Given the description of an element on the screen output the (x, y) to click on. 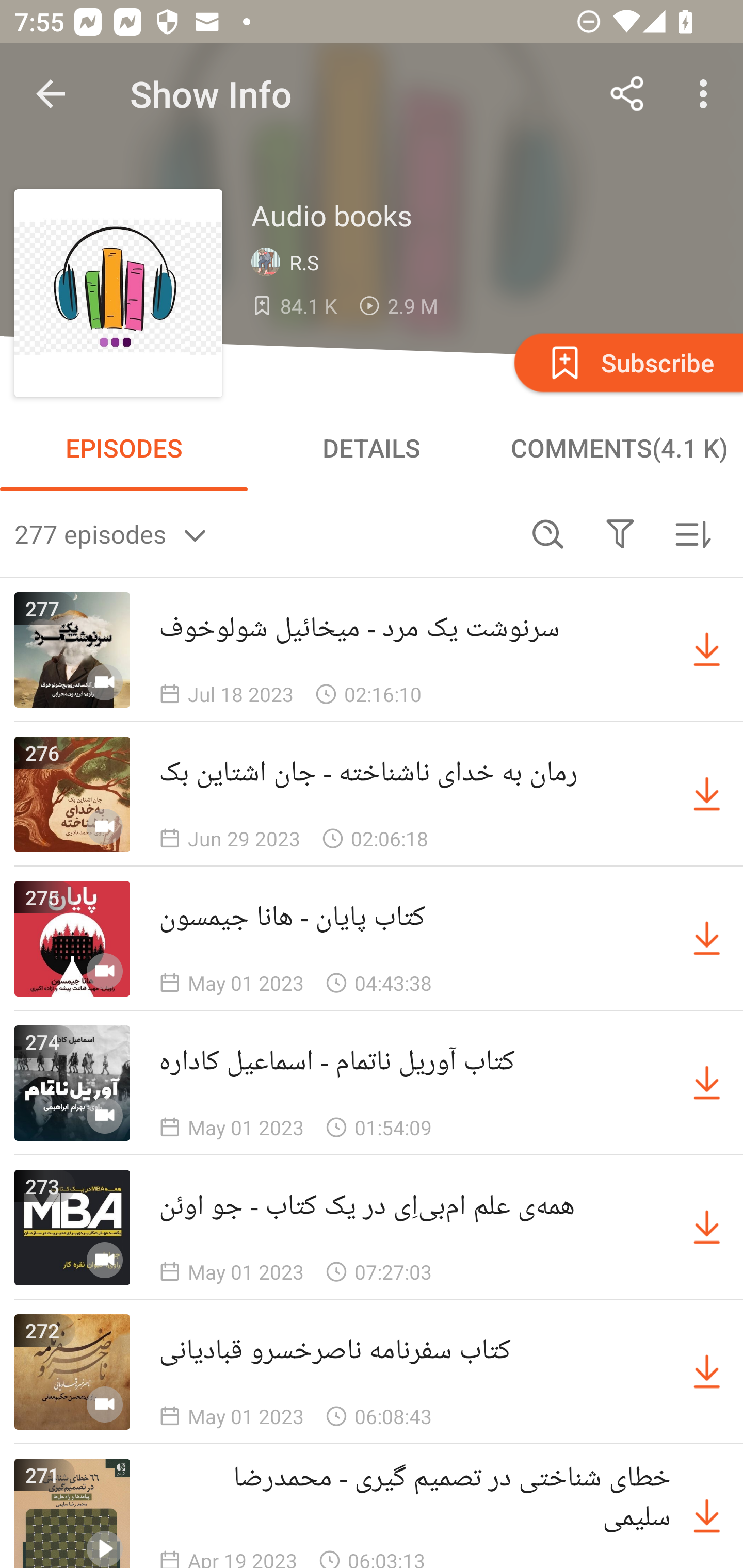
Navigate up (50, 93)
Share (626, 93)
More options (706, 93)
R.S (289, 262)
Subscribe (627, 361)
EPISODES (123, 447)
DETAILS (371, 447)
COMMENTS(4.1 K) (619, 447)
277 episodes  (262, 533)
 Search (547, 533)
 (619, 533)
 Sorted by newest first (692, 533)
Download (706, 649)
Download (706, 793)
Download (706, 939)
Download (706, 1083)
Download (706, 1227)
Download (706, 1371)
Download (706, 1513)
